Given the description of an element on the screen output the (x, y) to click on. 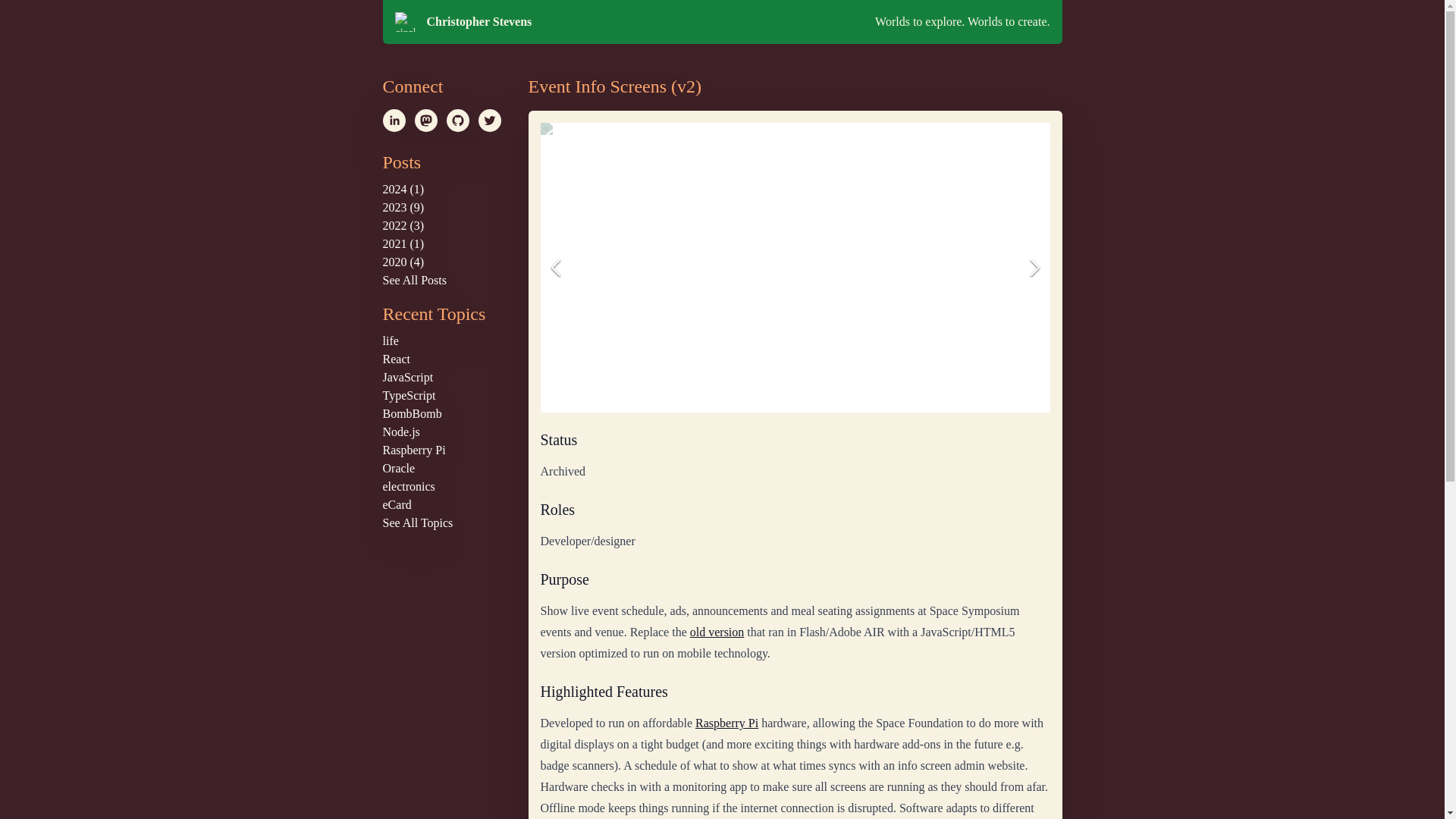
Raspberry Pi (413, 449)
Oracle (397, 468)
Node.js (400, 431)
eCard (395, 504)
TypeScript (408, 395)
React (395, 358)
old version (717, 631)
JavaScript (406, 377)
See All Posts (413, 279)
Christopher Stevens (641, 22)
